Given the description of an element on the screen output the (x, y) to click on. 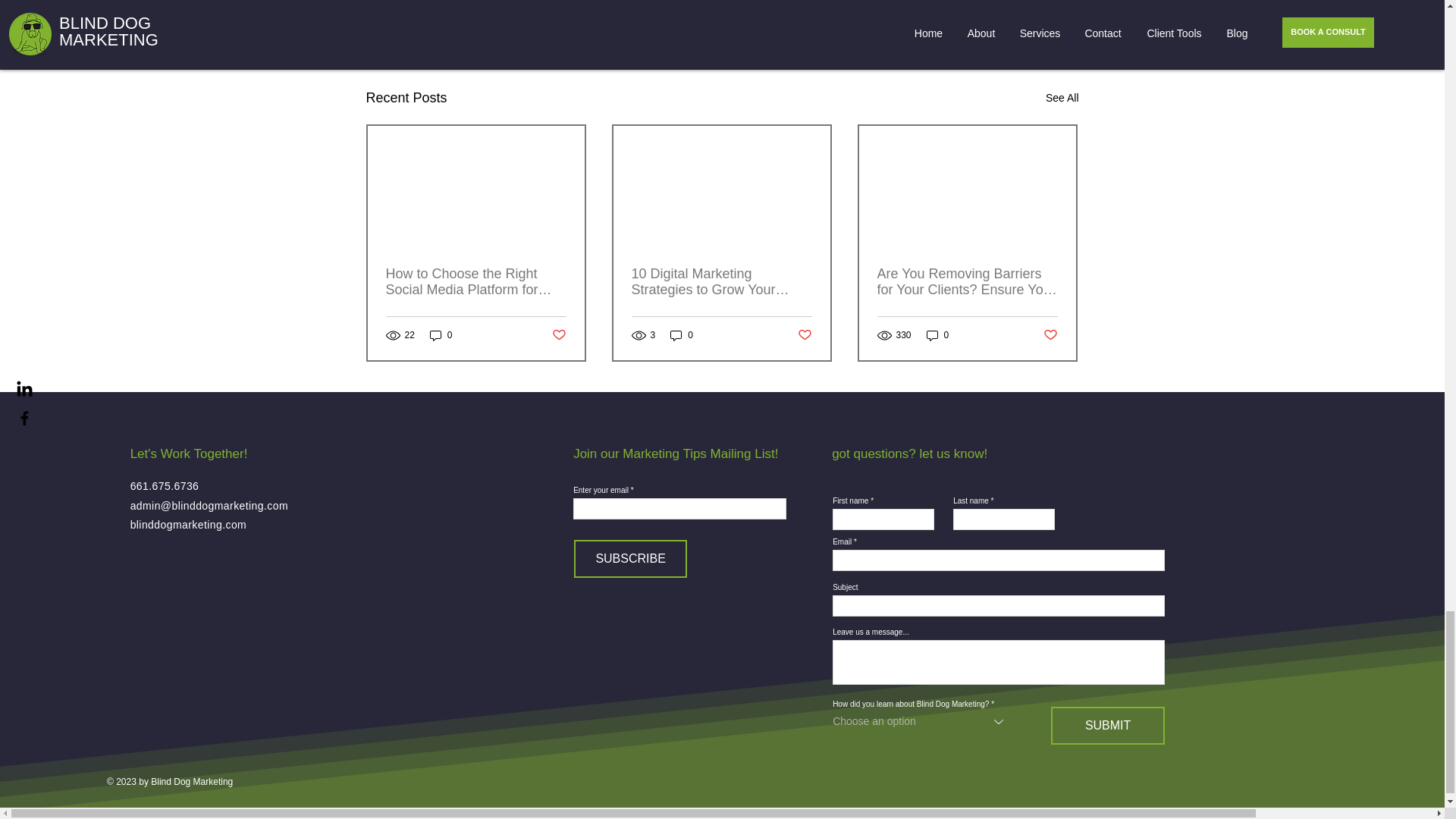
0 (441, 335)
Post not marked as liked (558, 335)
Post not marked as liked (995, 14)
See All (1061, 97)
